Given the description of an element on the screen output the (x, y) to click on. 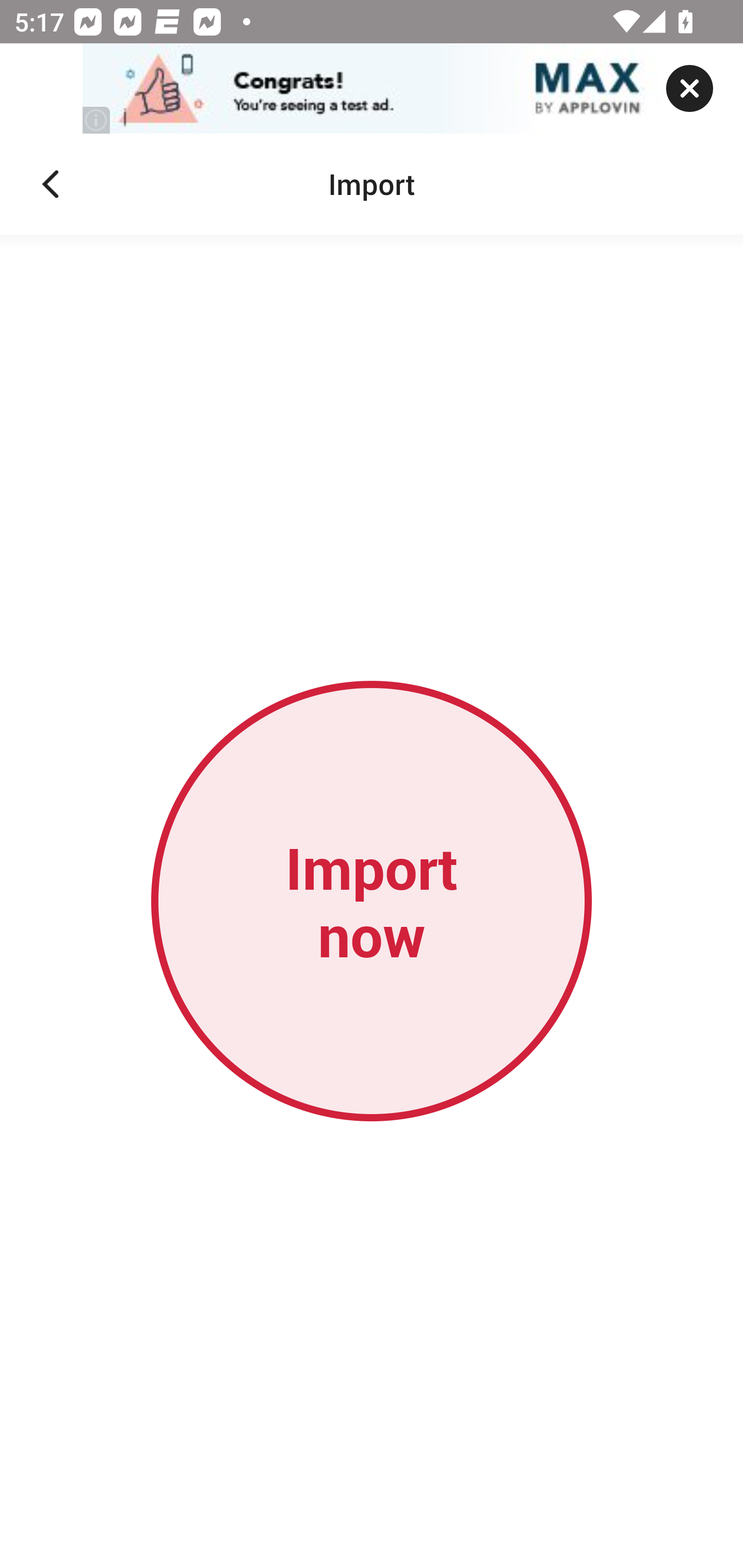
app-monetization (371, 88)
(i) (96, 119)
Navigate up (50, 184)
